Given the description of an element on the screen output the (x, y) to click on. 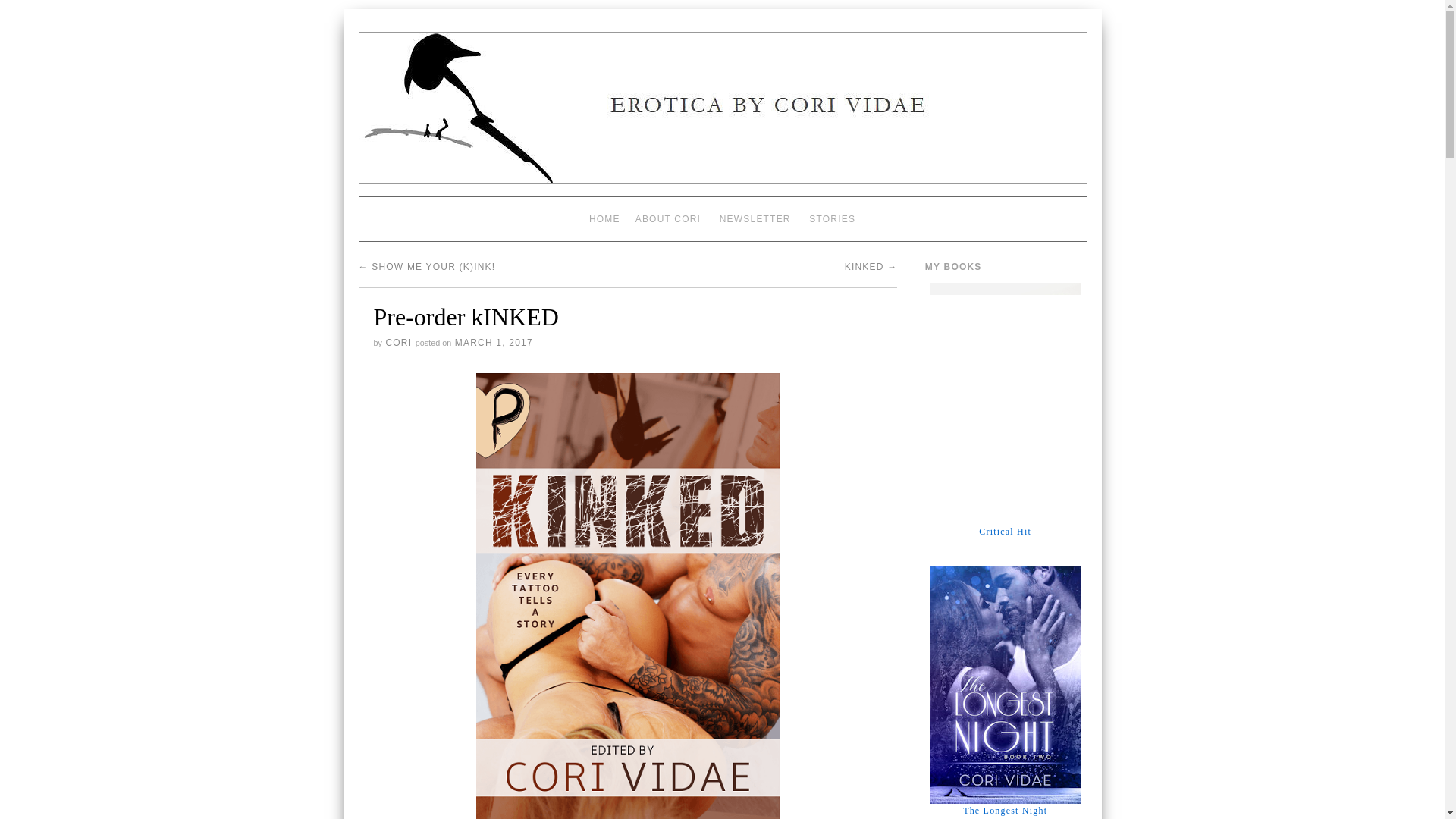
HOME (603, 218)
STORIES (832, 218)
View all posts by Cori (398, 342)
2:53 pm (493, 342)
Erotica by Cori Vidae (722, 113)
MARCH 1, 2017 (493, 342)
CORI (398, 342)
NEWSLETTER (754, 218)
ABOUT CORI (667, 218)
